Given the description of an element on the screen output the (x, y) to click on. 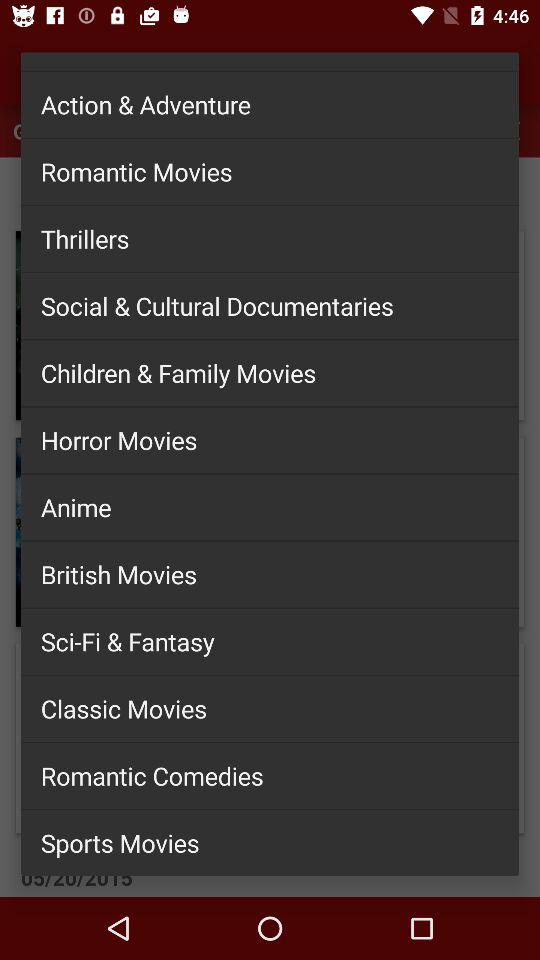
press the icon below the    independent movies (269, 104)
